Given the description of an element on the screen output the (x, y) to click on. 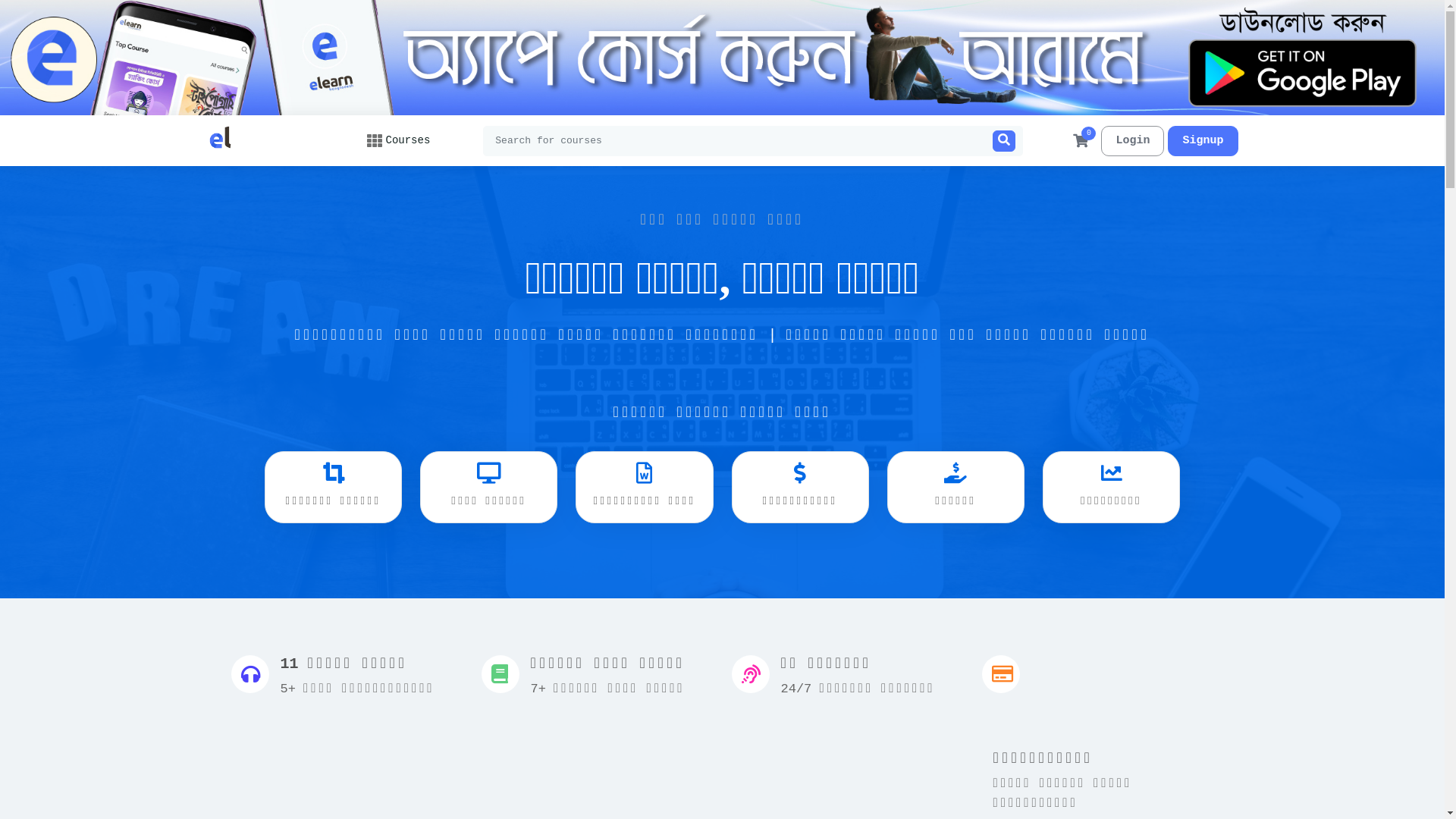
Signup Element type: text (1202, 140)
Courses Element type: text (398, 140)
Login Element type: text (1132, 140)
